Given the description of an element on the screen output the (x, y) to click on. 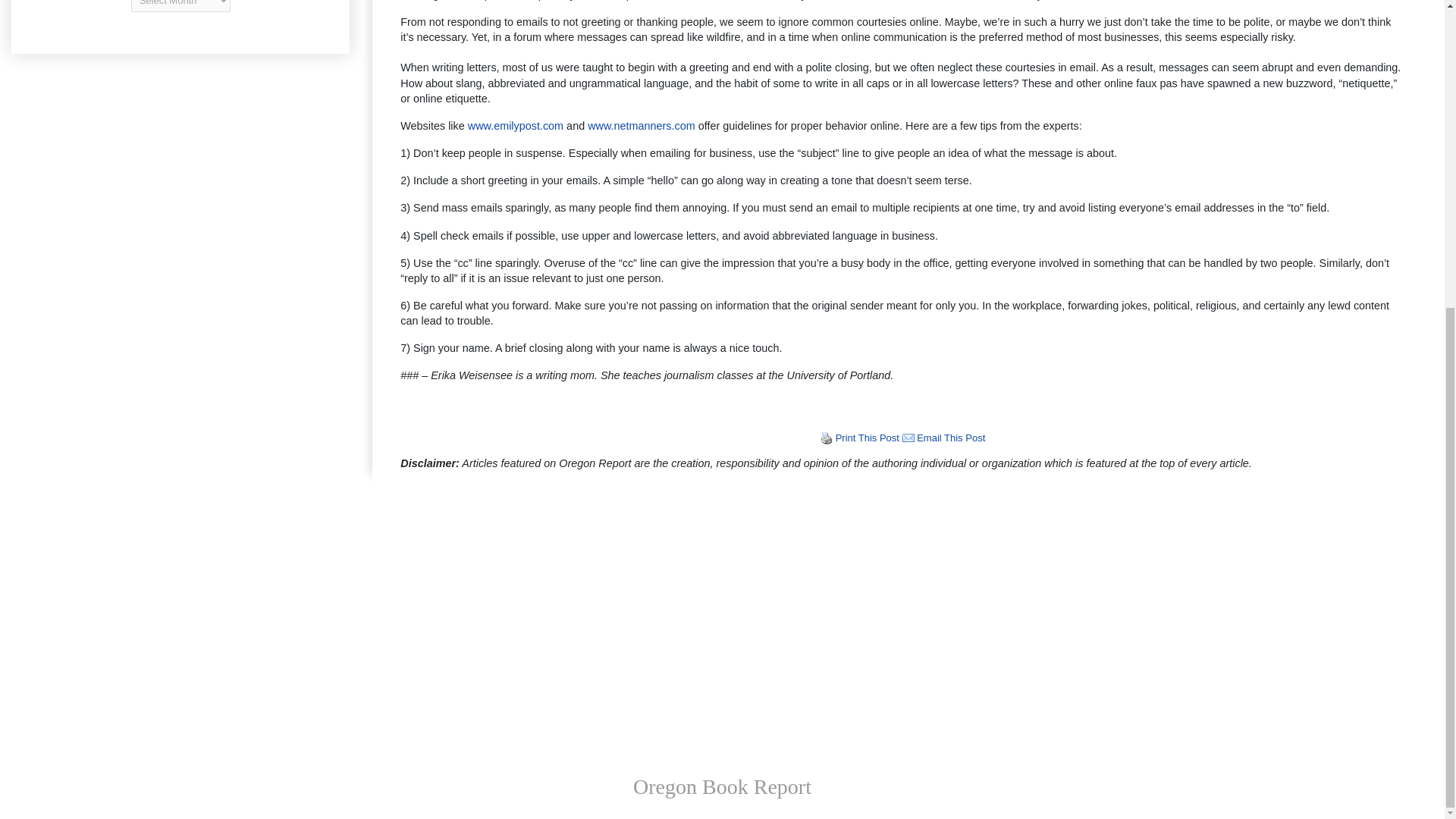
Print This Post (867, 437)
Print This Post (826, 438)
Print This Post (826, 437)
Email This Post (951, 437)
Print This Post (867, 437)
www.netmanners.com (641, 125)
Oregon Book Report (721, 786)
Email This Post (908, 437)
www.emilypost.com (515, 125)
